Given the description of an element on the screen output the (x, y) to click on. 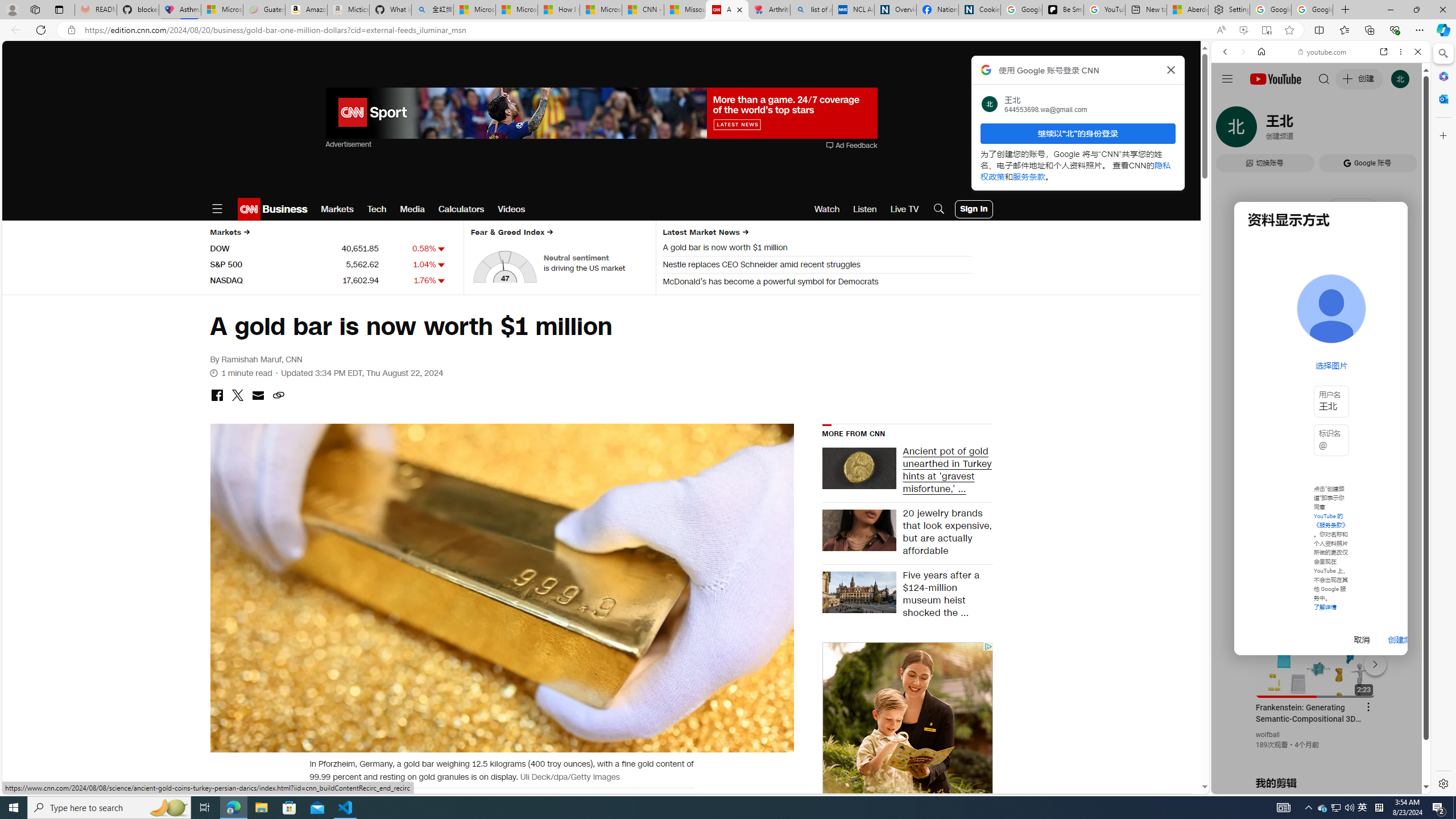
Media (412, 209)
Class: dict_pnIcon rms_img (1312, 784)
copy link to clipboard (277, 395)
Class: Bz112c Bz112c-r9oPif (1170, 69)
